Given the description of an element on the screen output the (x, y) to click on. 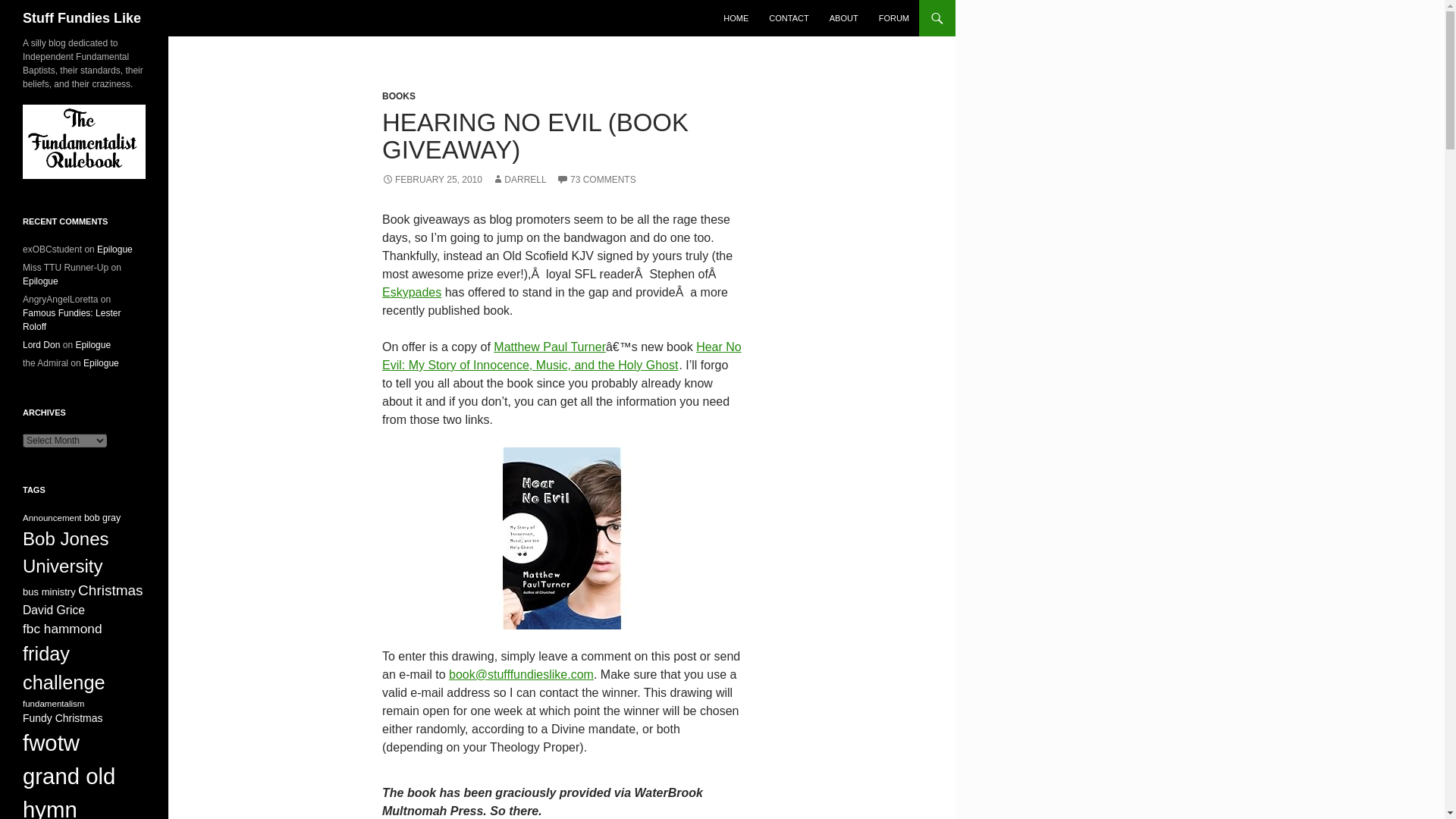
73 COMMENTS (596, 179)
FEBRUARY 25, 2010 (431, 179)
Matthew Paul Turner (549, 346)
BOOKS (397, 95)
ABOUT (844, 18)
HOME (735, 18)
DARRELL (519, 179)
FORUM (893, 18)
Stuff Fundies Like (82, 18)
